Given the description of an element on the screen output the (x, y) to click on. 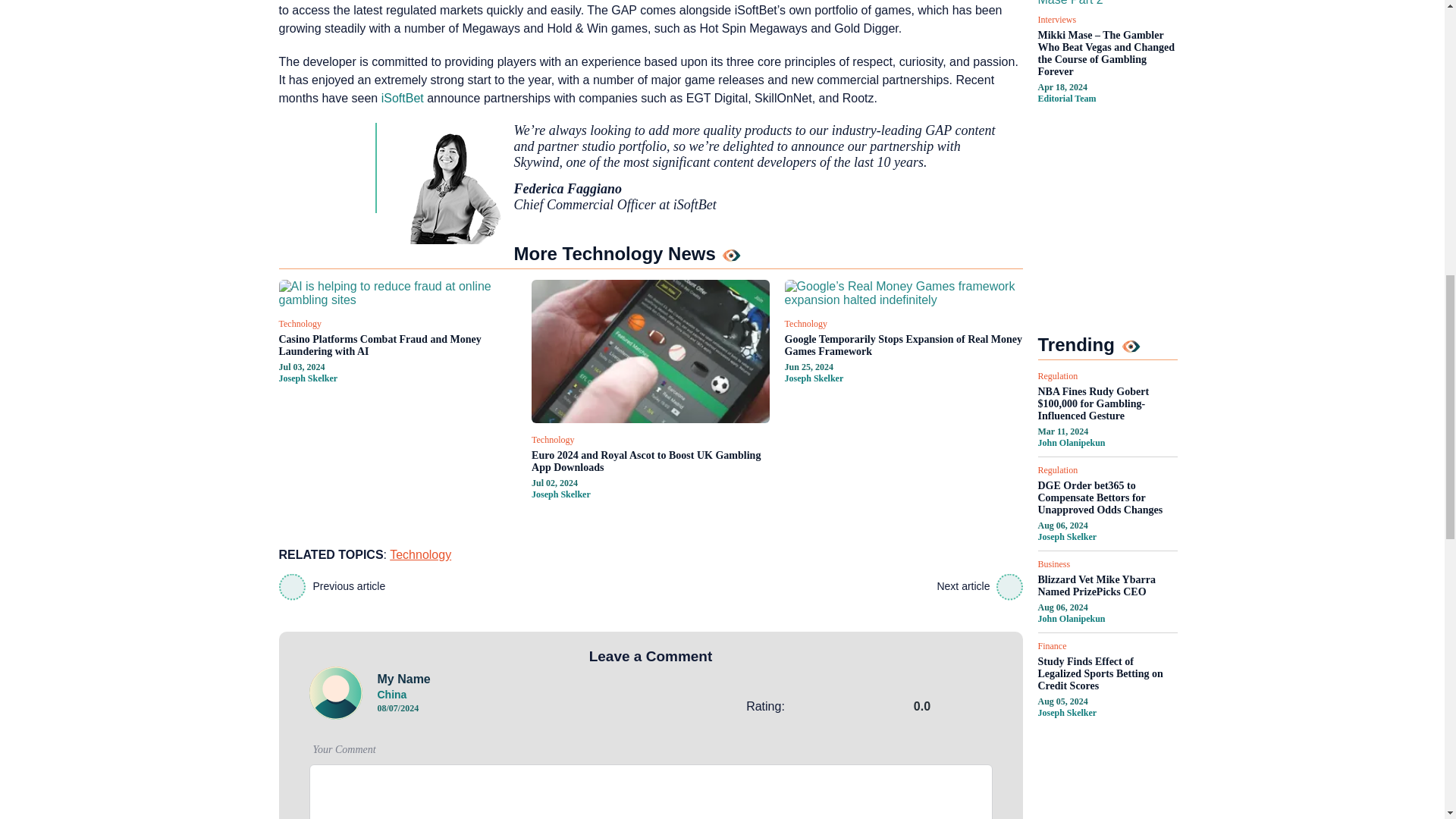
Joseph Skelker (308, 378)
Euro 2024 and Royal Ascot to Boost UK Gambling App Downloads (650, 461)
Casino Platforms Combat Fraud and Money Laundering with AI (397, 345)
iSoftBet (402, 97)
